Given the description of an element on the screen output the (x, y) to click on. 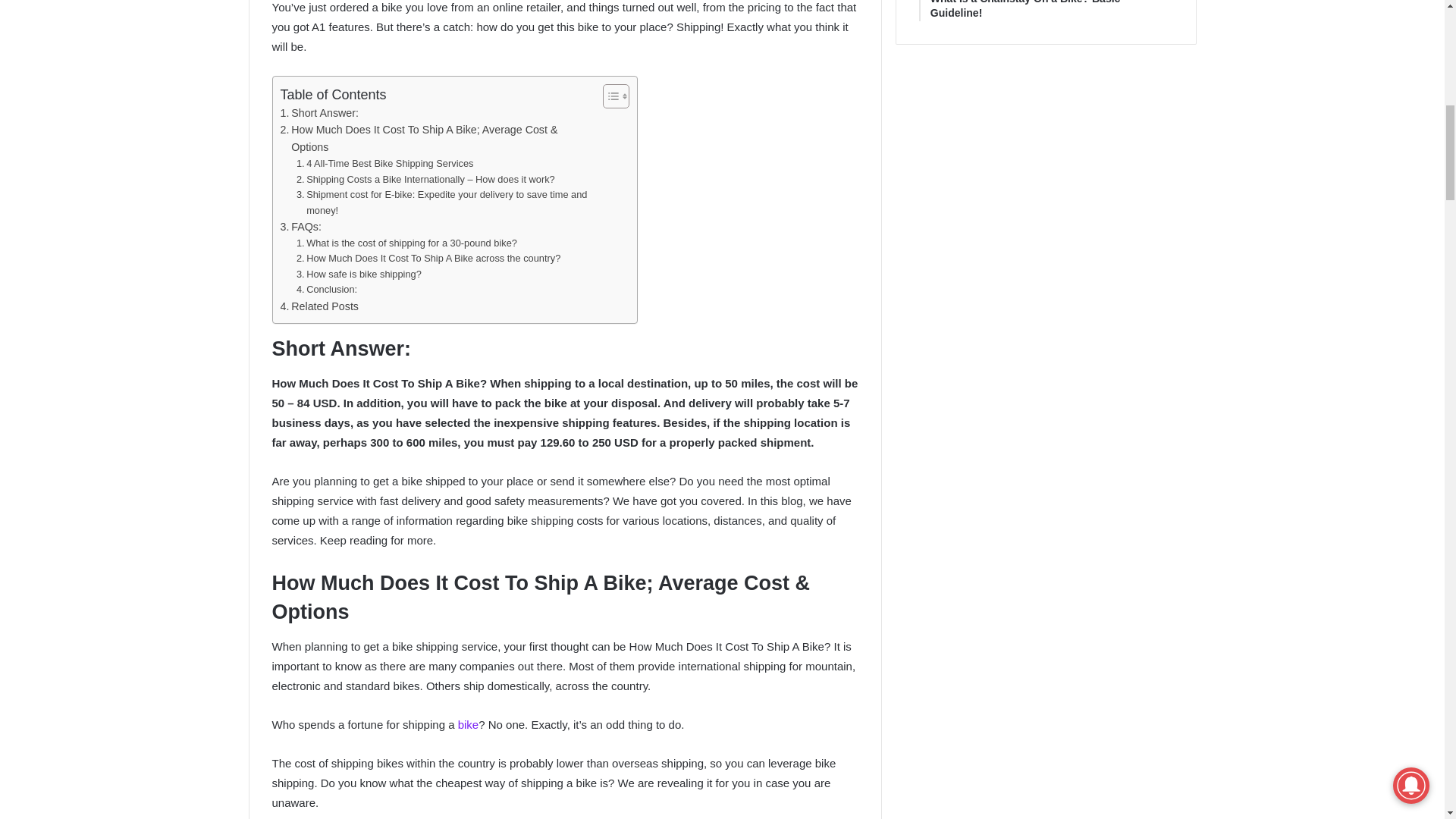
Short Answer: (319, 113)
What is the cost of shipping for a 30-pound bike? (406, 243)
How Much Does It Cost To Ship A Bike across the country? (428, 258)
bike (468, 724)
Related Posts (319, 306)
Conclusion: (326, 289)
4 All-Time Best Bike Shipping Services (385, 163)
What is the cost of shipping for a 30-pound bike? (406, 243)
4 All-Time Best Bike Shipping Services (385, 163)
FAQs: (301, 226)
FAQs: (301, 226)
How safe is bike shipping? (359, 274)
Short Answer: (319, 113)
